Given the description of an element on the screen output the (x, y) to click on. 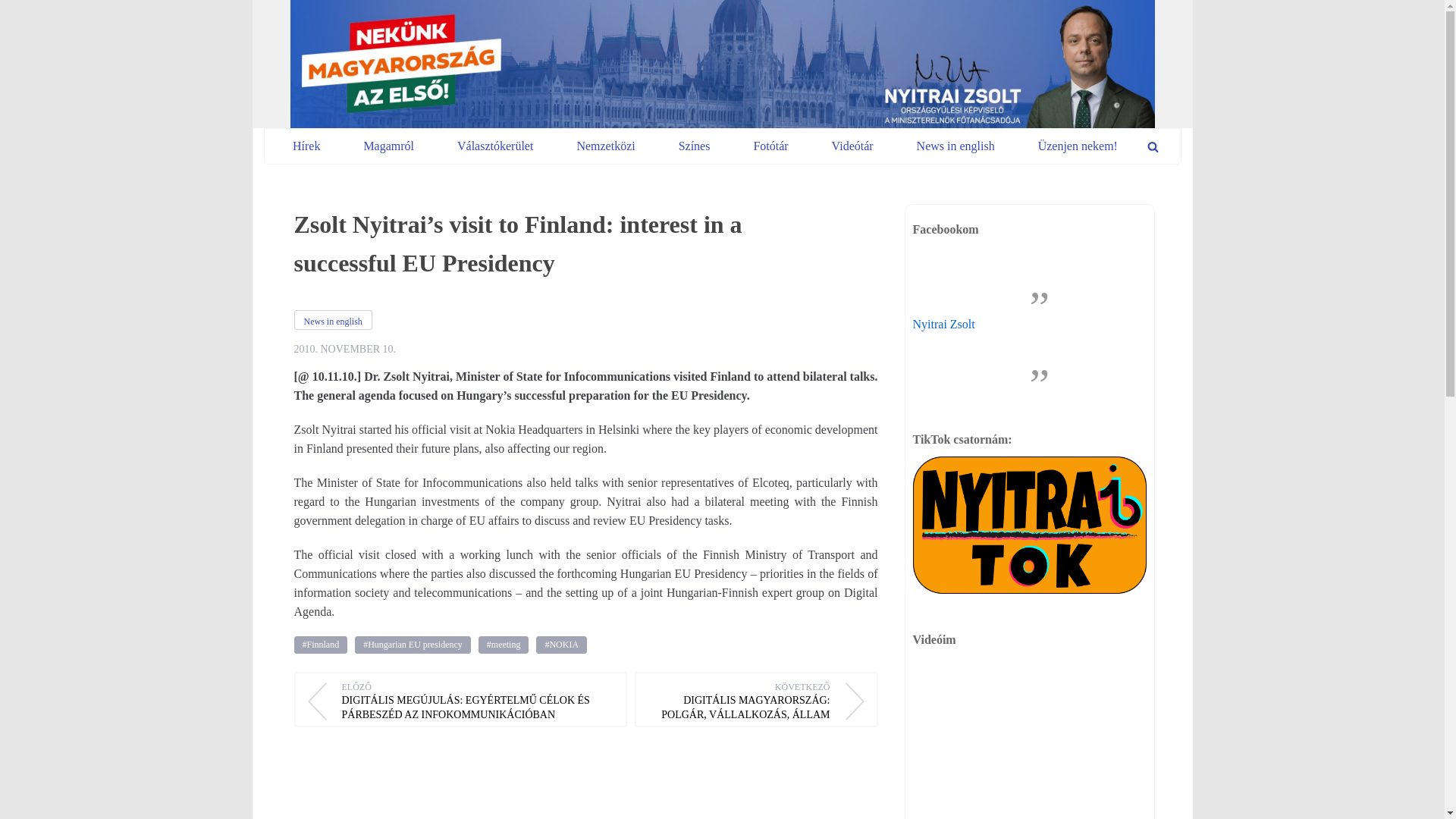
Nyitrai Zsolt (721, 63)
News in english (955, 146)
News in english (333, 320)
Finnland (320, 644)
Skip to content (15, 7)
meeting (504, 644)
NOKIA (560, 644)
Nyitrai Zsolt (943, 323)
Hungarian EU presidency (412, 644)
